Given the description of an element on the screen output the (x, y) to click on. 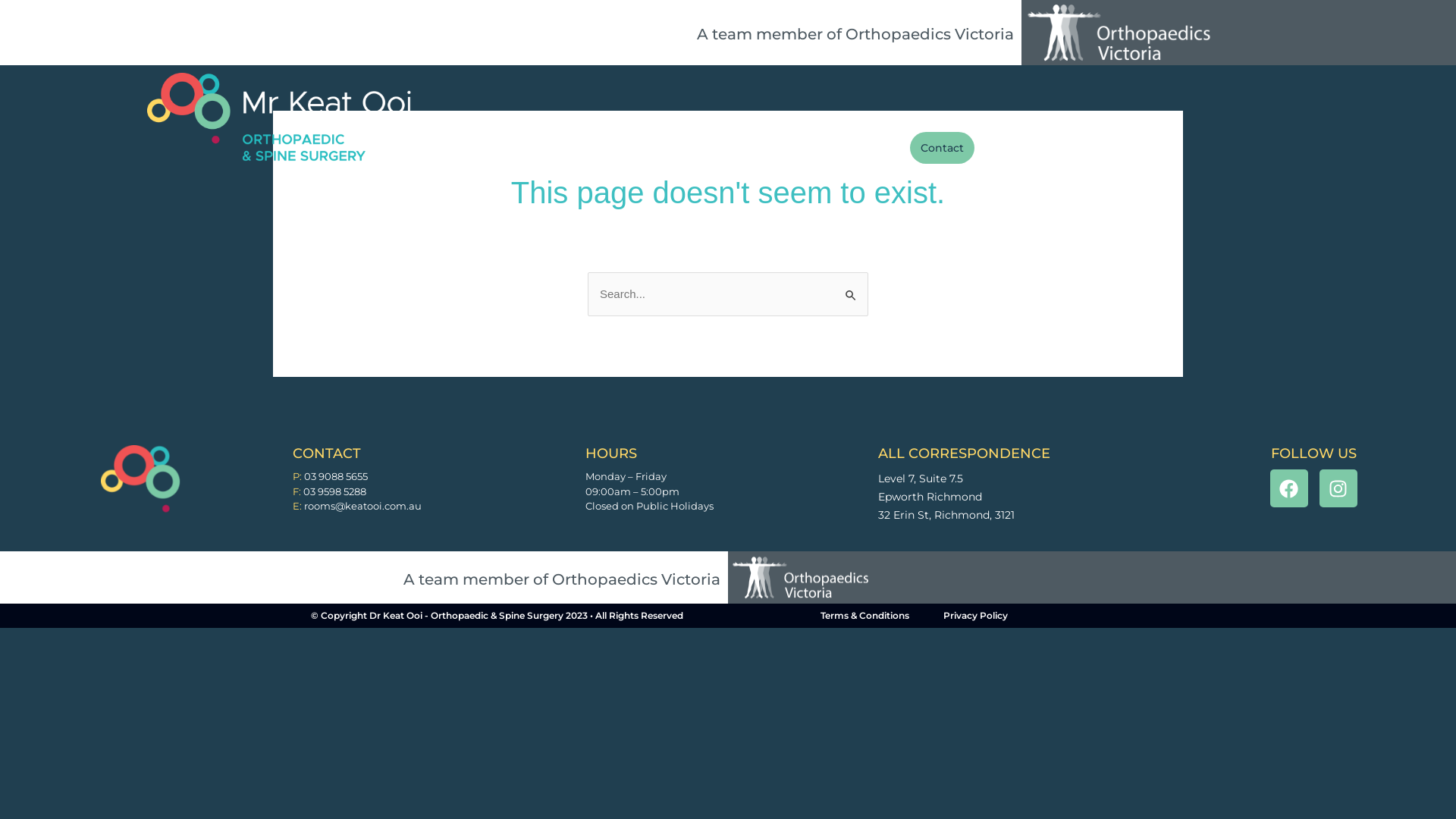
Terms & Conditions Element type: text (864, 615)
Learn with Keat Element type: text (847, 147)
Home Element type: text (523, 147)
Facebook Element type: text (1288, 488)
Contact Element type: text (942, 147)
03 9088 5655 Element type: text (335, 476)
Instagram Element type: text (1338, 488)
ortho vic logo Element type: hover (1119, 32)
Referrers Element type: text (747, 147)
Search Element type: text (851, 287)
About Element type: text (579, 147)
Privacy Policy Element type: text (975, 615)
Patient Info Element type: text (659, 147)
